Given the description of an element on the screen output the (x, y) to click on. 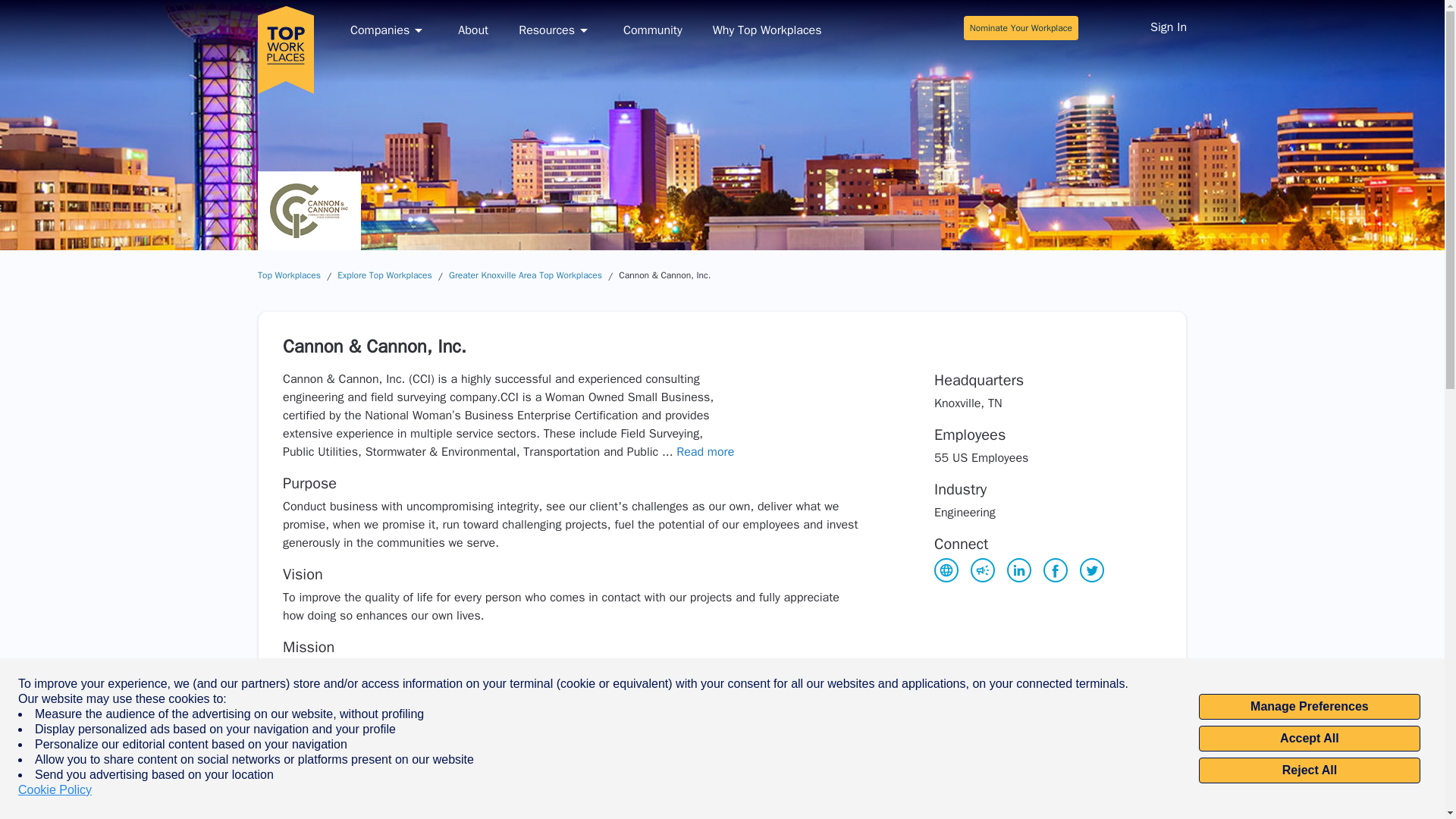
Community (652, 30)
Reject All (1309, 769)
Accept All (1309, 738)
Greater Knoxville Area Top Workplaces (525, 275)
Explore Top Workplaces (384, 275)
Manage Preferences (1309, 706)
Companies (389, 30)
Top Workplaces (288, 275)
Nominate Your Workplace (1020, 27)
Cookie Policy (54, 789)
Why Top Workplaces (767, 30)
Resources (555, 30)
About (472, 30)
Sign In (1168, 28)
Read more (705, 451)
